Given the description of an element on the screen output the (x, y) to click on. 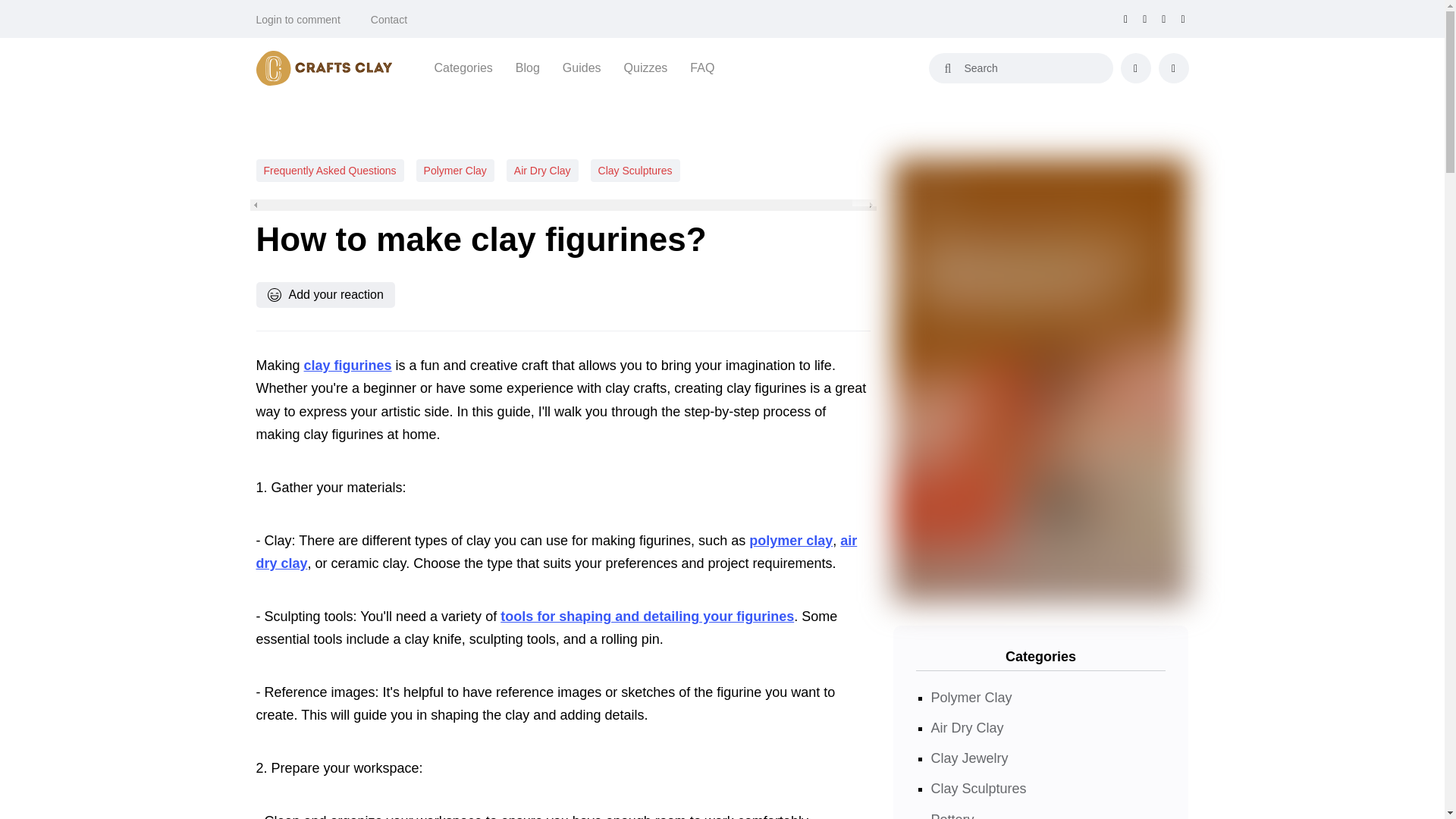
Categories (462, 67)
Login to comment (298, 19)
Contact (389, 19)
